Given the description of an element on the screen output the (x, y) to click on. 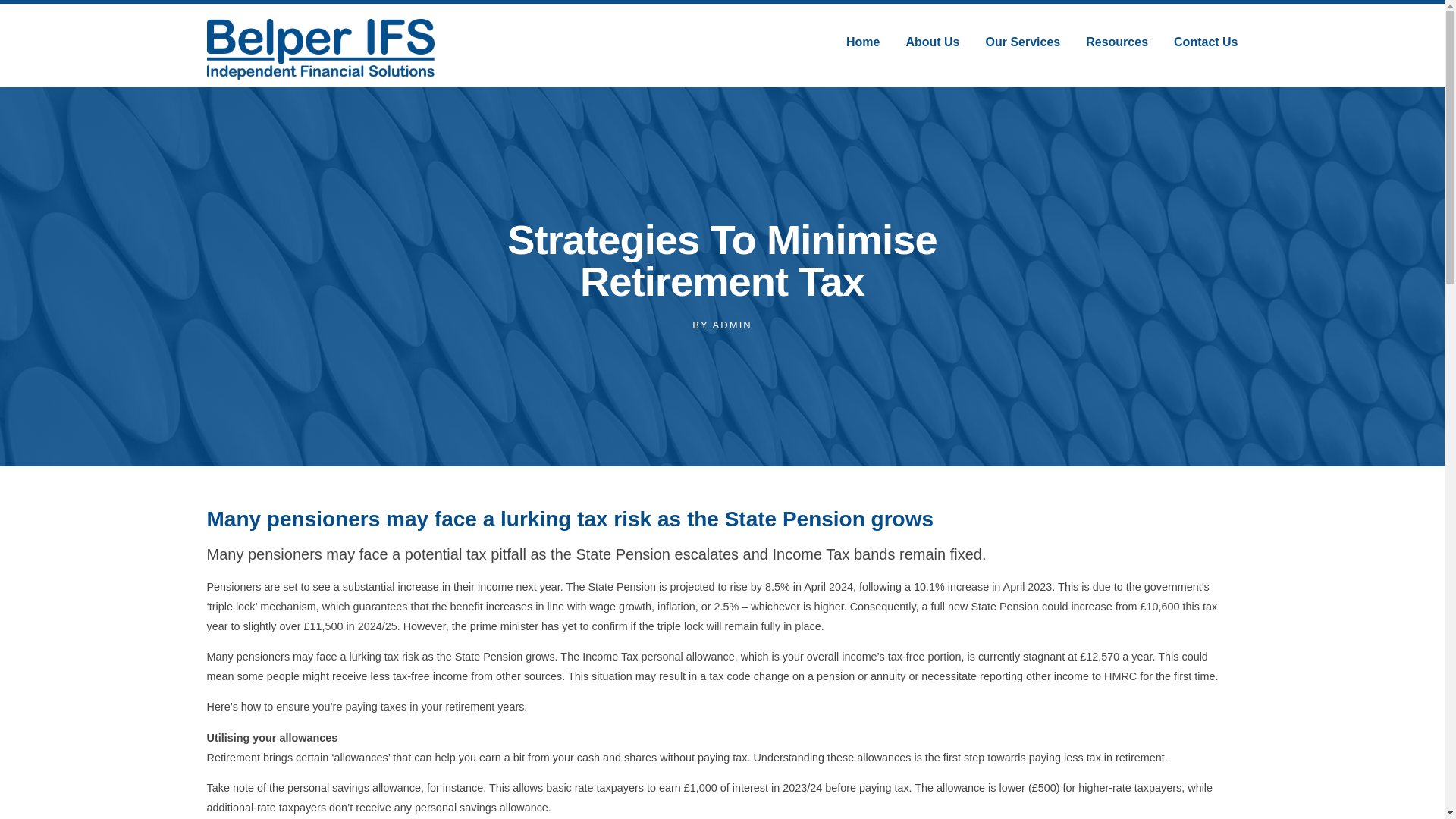
About Us (932, 41)
BY ADMIN (722, 324)
Contact Us (1205, 41)
Resources (1117, 41)
Our Services (1022, 41)
